Given the description of an element on the screen output the (x, y) to click on. 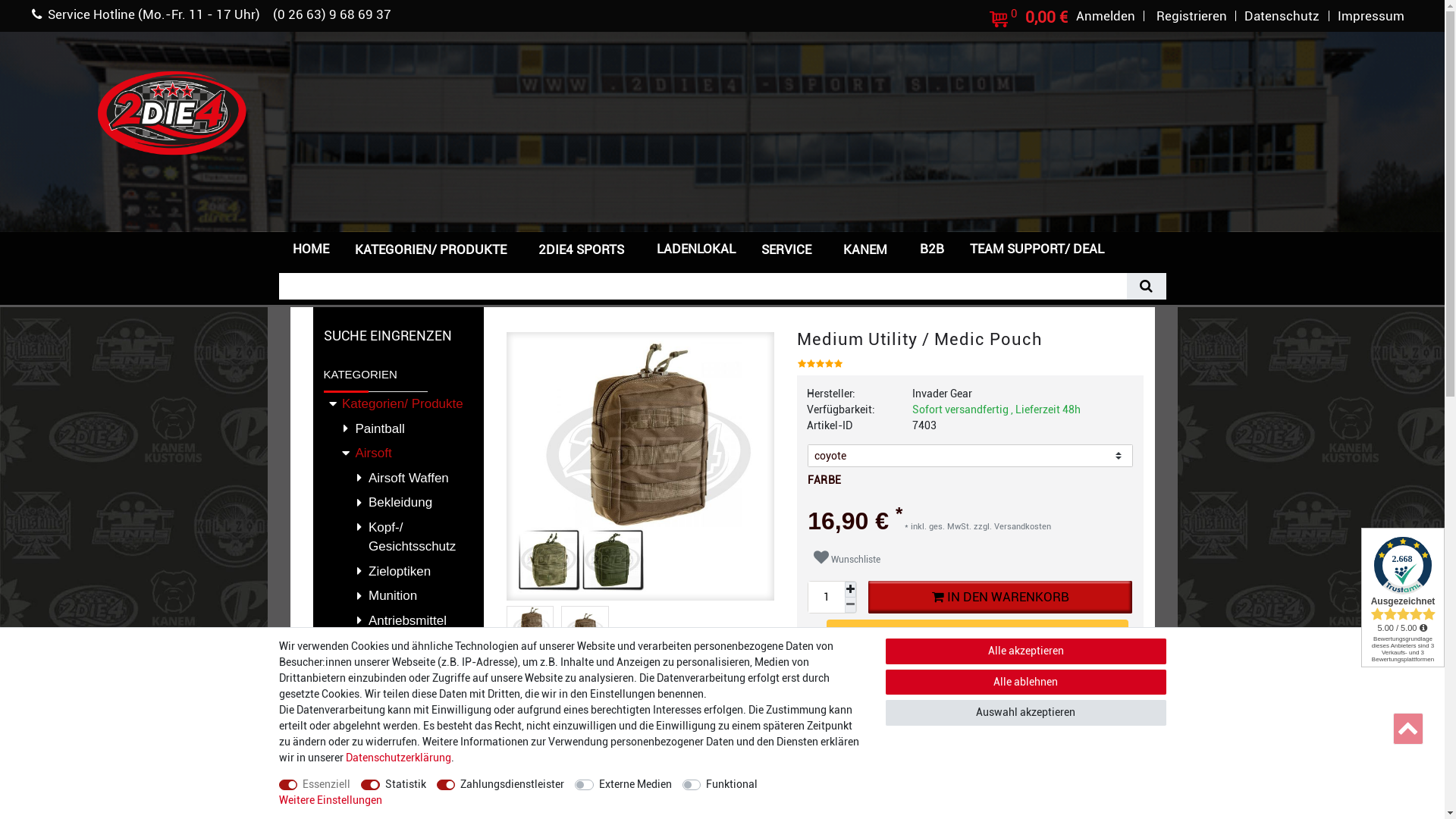
Taschen Element type: text (397, 689)
Weitere Details Element type: text (623, 746)
Medium Utility / Medic Pouch Element type: hover (640, 467)
LADENLOKAL Element type: text (695, 249)
Anmelden Element type: text (1105, 15)
Datenschutz Element type: text (1282, 15)
Zieloptiken Element type: text (397, 570)
Impressum Element type: text (1370, 15)
Paintball Element type: text (397, 428)
Auswahl akzeptieren Element type: text (1025, 712)
Airsoft Waffen Element type: text (397, 477)
TEAM SUPPORT/ DEAL Element type: text (1037, 249)
Weitere Einstellungen Element type: text (330, 800)
Alle ablehnen Element type: text (1025, 681)
Registrieren Element type: text (1192, 15)
B2B Element type: text (931, 249)
Patches Element type: text (397, 787)
Medium Utility / Medic Pouch Element type: hover (529, 629)
Kategorien/ Produkte Element type: text (397, 404)
IN DEN WARENKORB Element type: text (1000, 596)
Wunschliste Element type: text (846, 557)
Produktbewertungen Element type: text (721, 746)
Airsoft Element type: text (397, 453)
KATEGORIEN/ PRODUKTE Element type: text (433, 249)
Antriebsmittel Element type: text (397, 620)
SERVICE Element type: text (788, 249)
Alle akzeptieren Element type: text (1025, 651)
Beschreibung Element type: text (543, 746)
Trustami Element type: hover (1402, 597)
PayPal Element type: hover (977, 636)
Kopf-/ Gesichtsschutz Element type: text (397, 536)
Medium Utility / Medic Pouch, coyote Element type: hover (584, 629)
Versandkosten Element type: text (1021, 526)
Munition Element type: text (397, 595)
2DIE4 SPORTS Element type: text (584, 249)
Bekleidung Element type: text (397, 502)
Rauch-/ Pyrotechnik Element type: text (397, 655)
KANEM Element type: text (868, 249)
HOME Element type: text (310, 249)
